Given the description of an element on the screen output the (x, y) to click on. 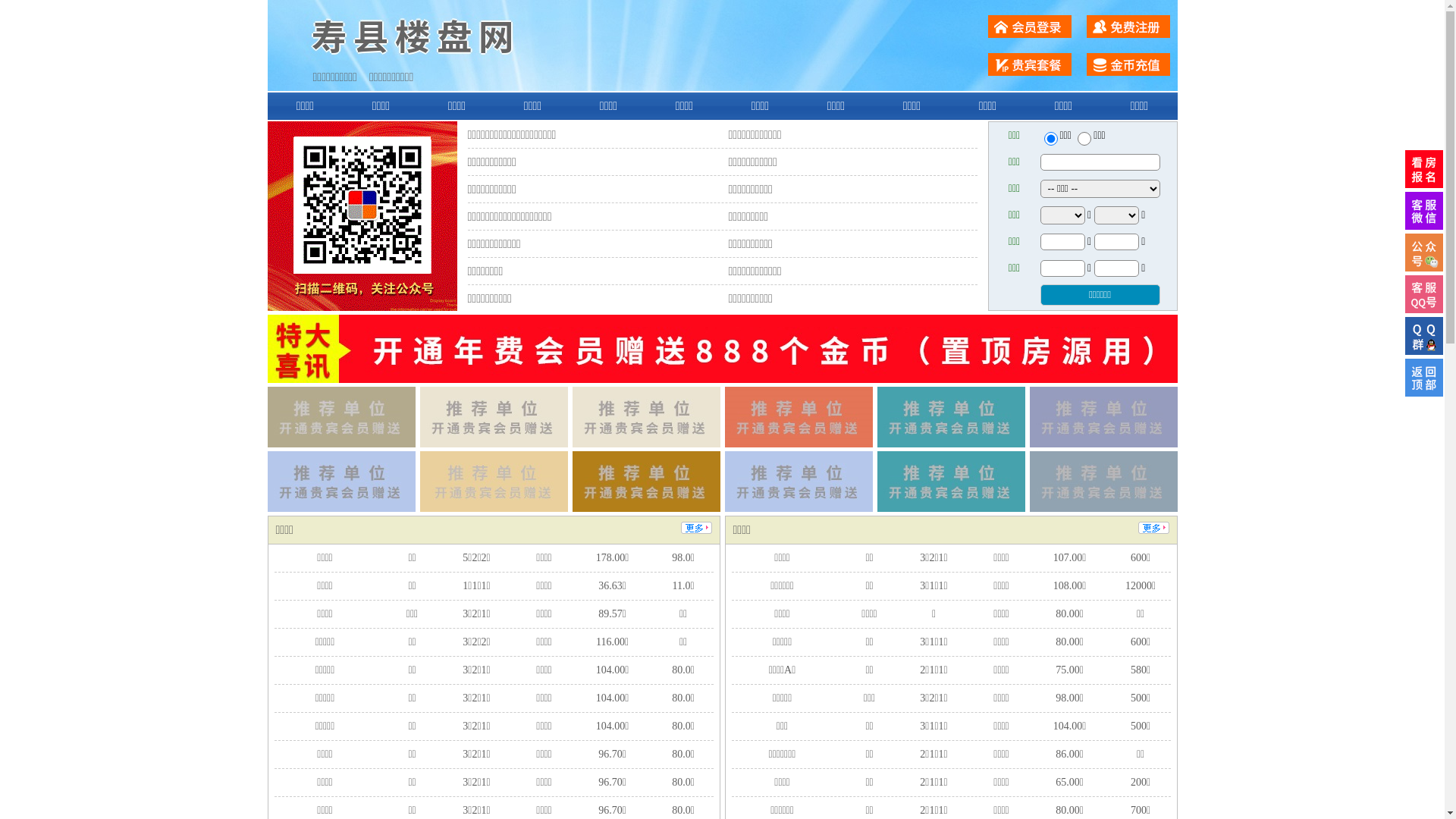
ershou Element type: text (1050, 138)
chuzu Element type: text (1084, 138)
